Given the description of an element on the screen output the (x, y) to click on. 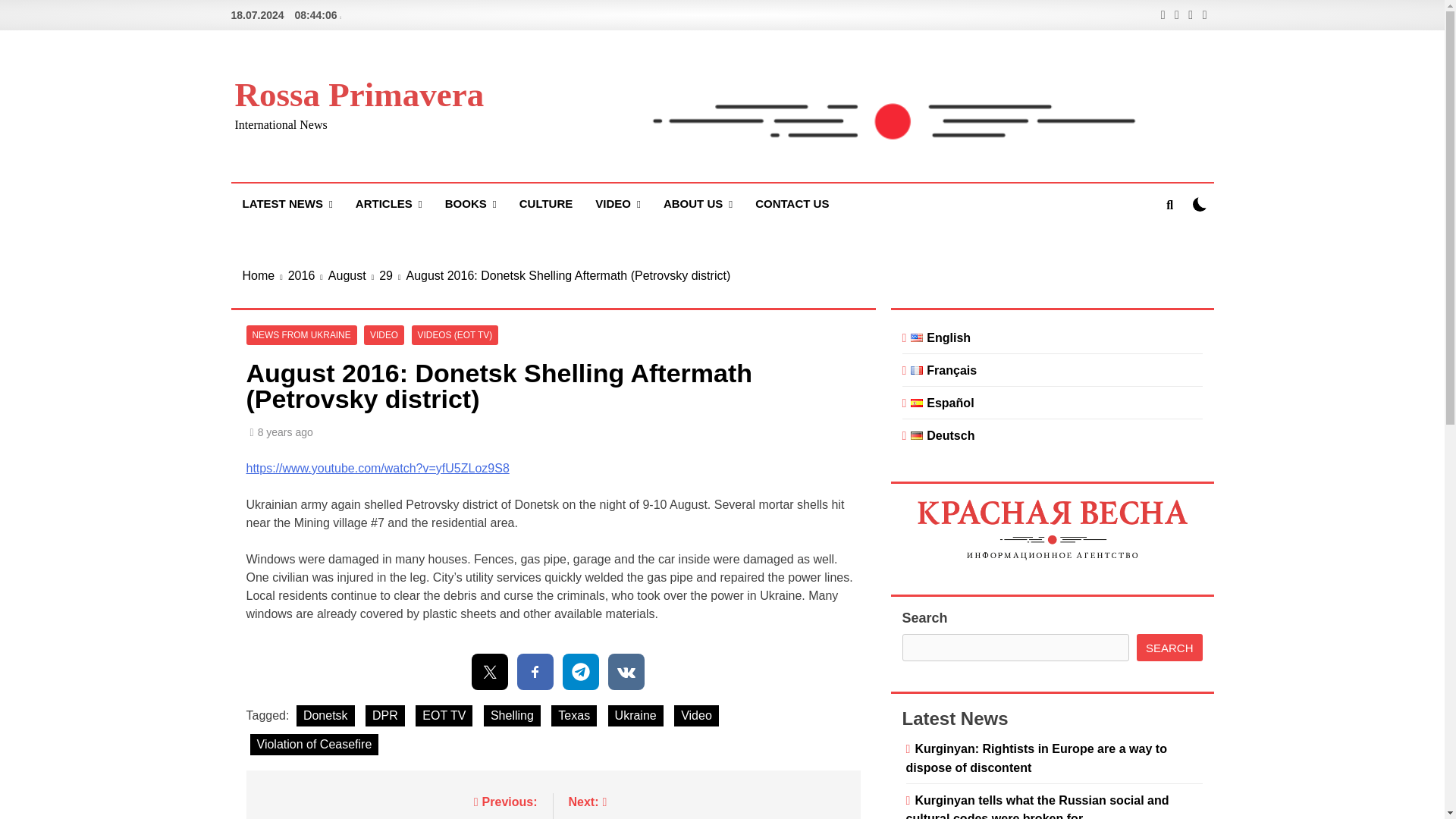
CULTURE (546, 203)
ARTICLES (388, 204)
Rossa Primavera (359, 94)
LATEST NEWS (286, 204)
BOOKS (470, 204)
on (1199, 204)
